Given the description of an element on the screen output the (x, y) to click on. 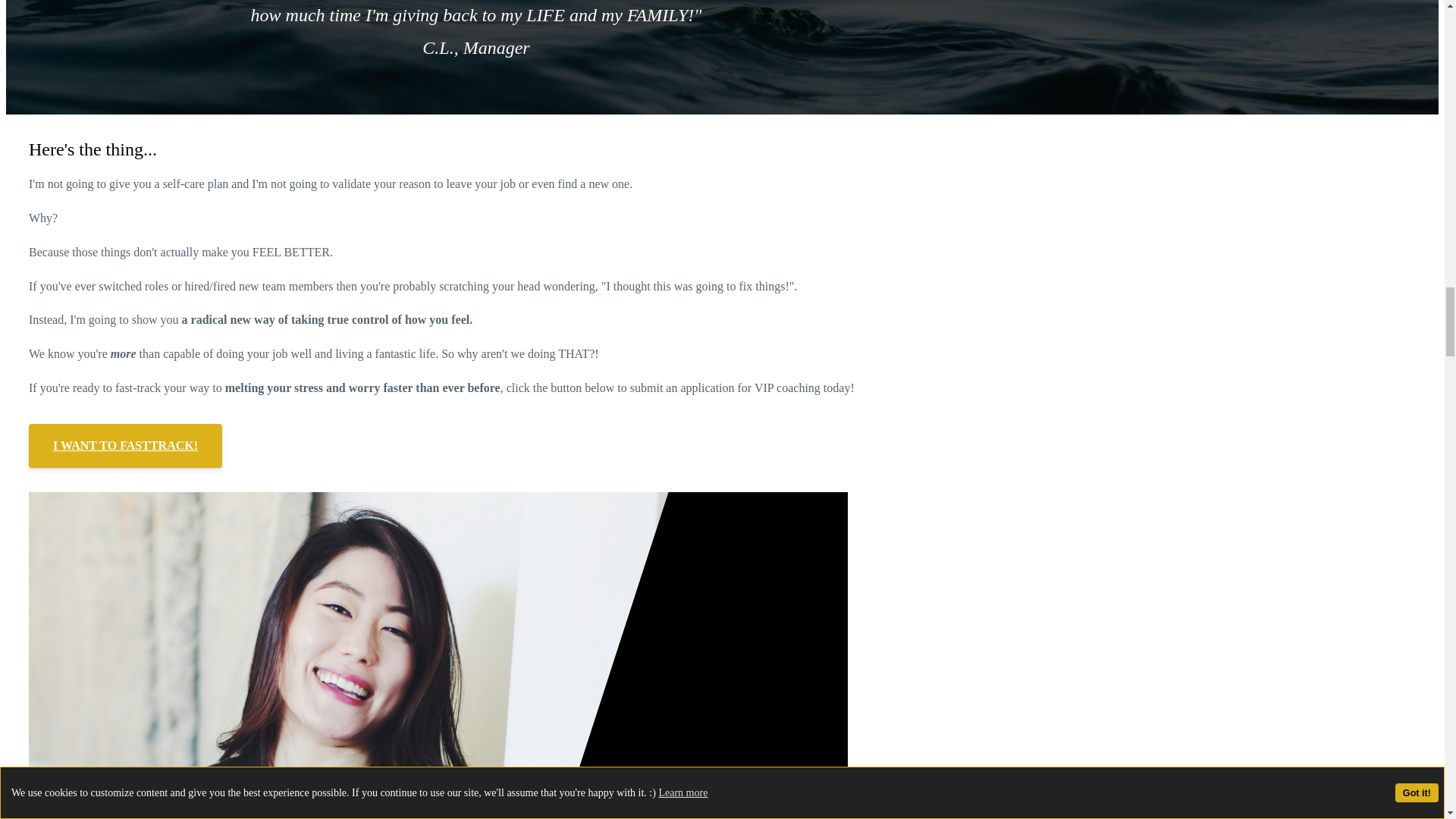
I WANT TO FASTTRACK! (125, 445)
